Given the description of an element on the screen output the (x, y) to click on. 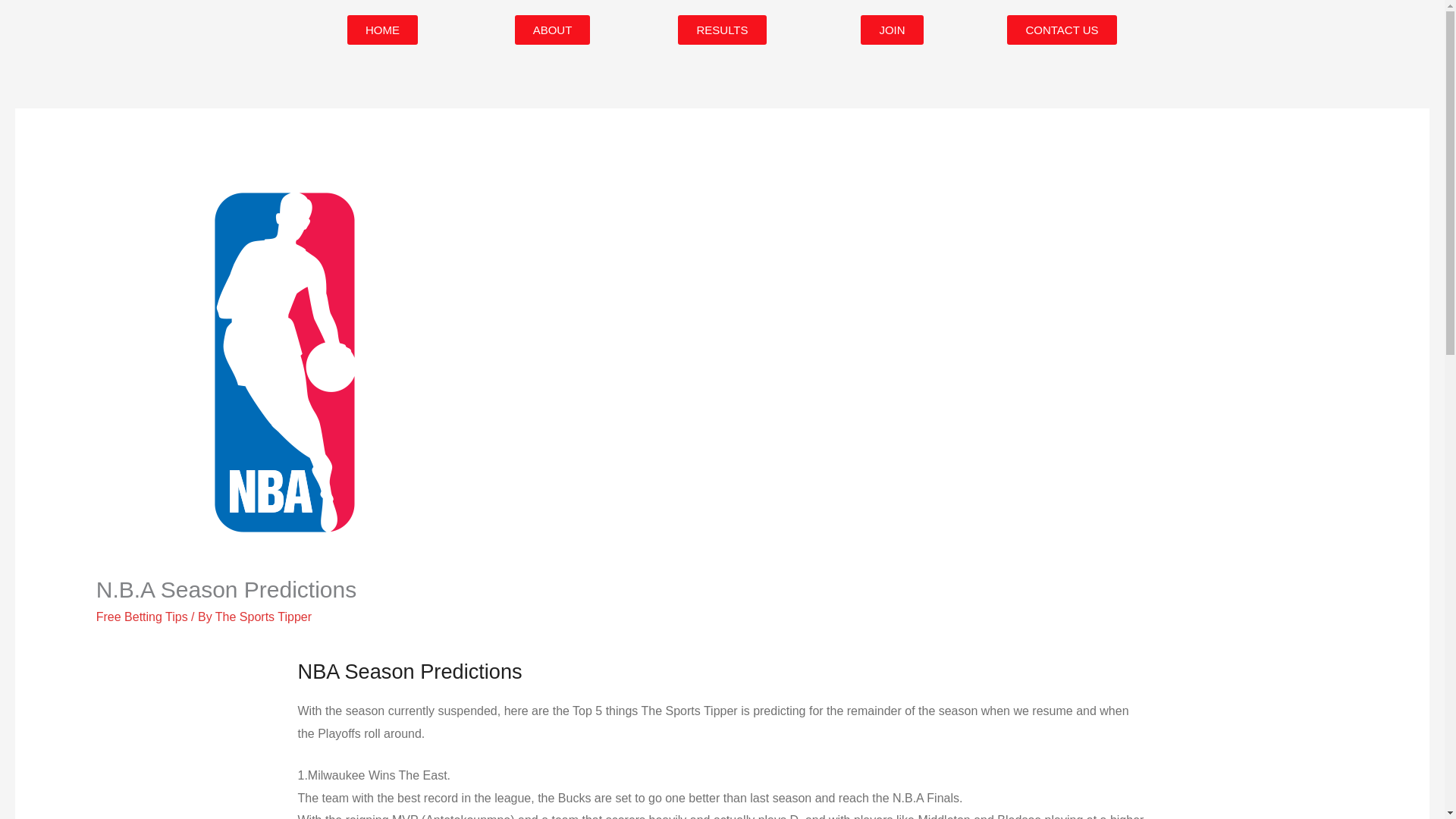
CONTACT US (1061, 30)
Free Betting Tips (141, 616)
HOME (382, 30)
The Sports Tipper (263, 616)
JOIN (891, 30)
ABOUT (553, 30)
View all posts by The Sports Tipper (263, 616)
RESULTS (721, 30)
